Given the description of an element on the screen output the (x, y) to click on. 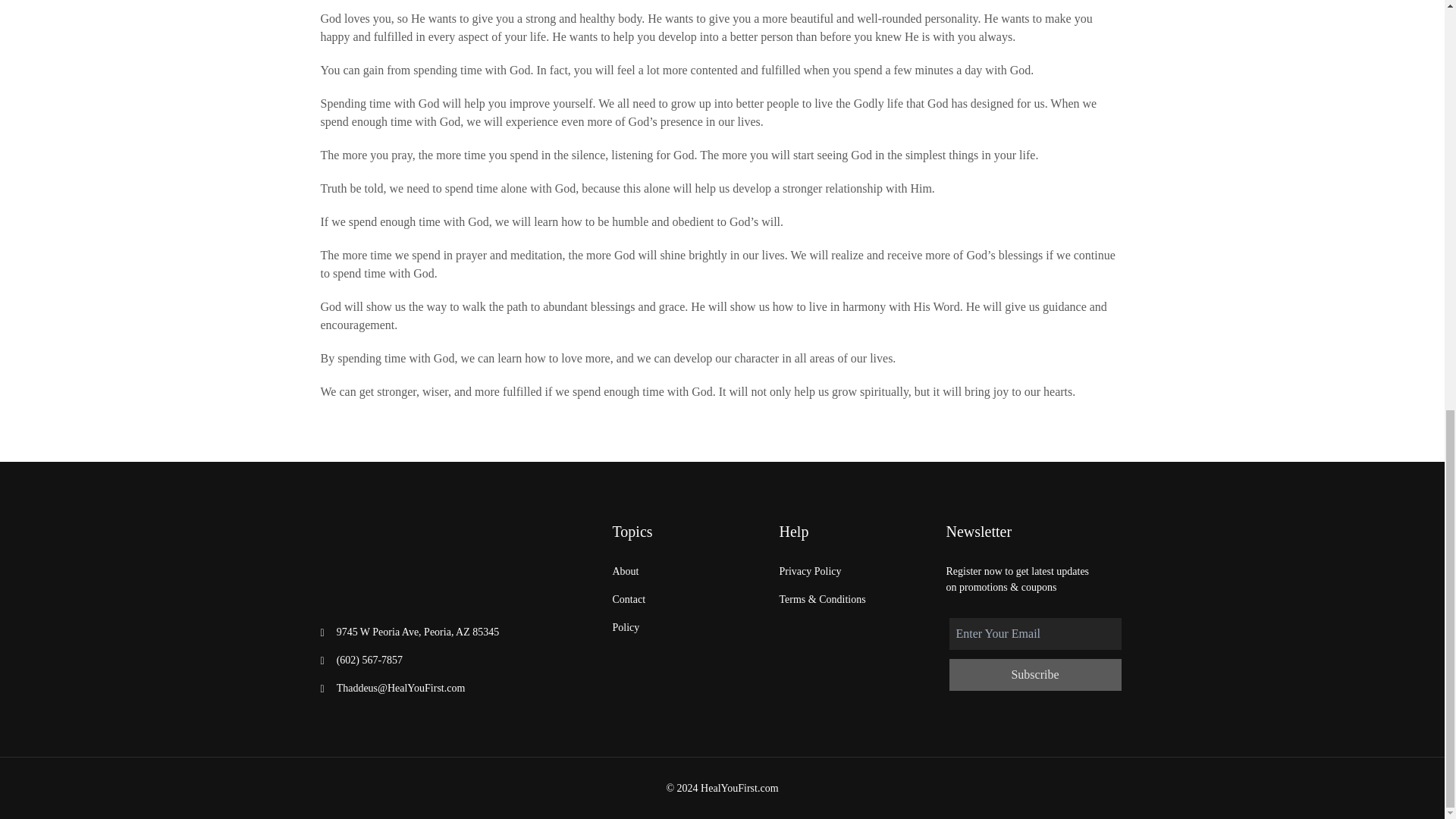
Privacy Policy (809, 571)
Contact (629, 599)
Subscribe (1035, 675)
Policy (626, 627)
About (625, 571)
